Given the description of an element on the screen output the (x, y) to click on. 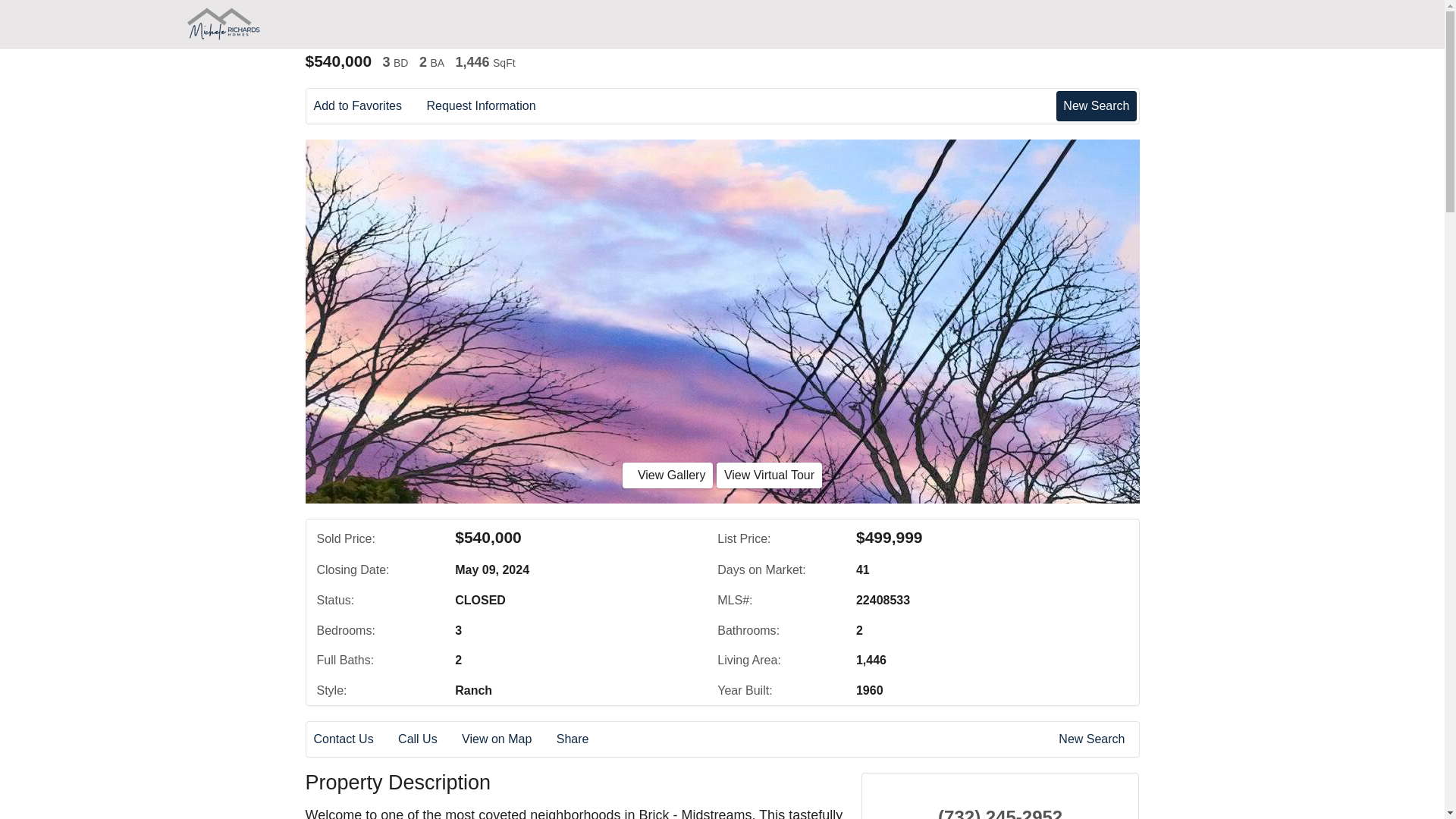
Contact Us (354, 739)
New Search (1096, 105)
Call Us (427, 739)
View Gallery (668, 475)
View on Map (507, 739)
View Gallery (668, 474)
Share (583, 739)
Add to Favorites (368, 106)
Request Information (491, 106)
New Search (1094, 739)
